Given the description of an element on the screen output the (x, y) to click on. 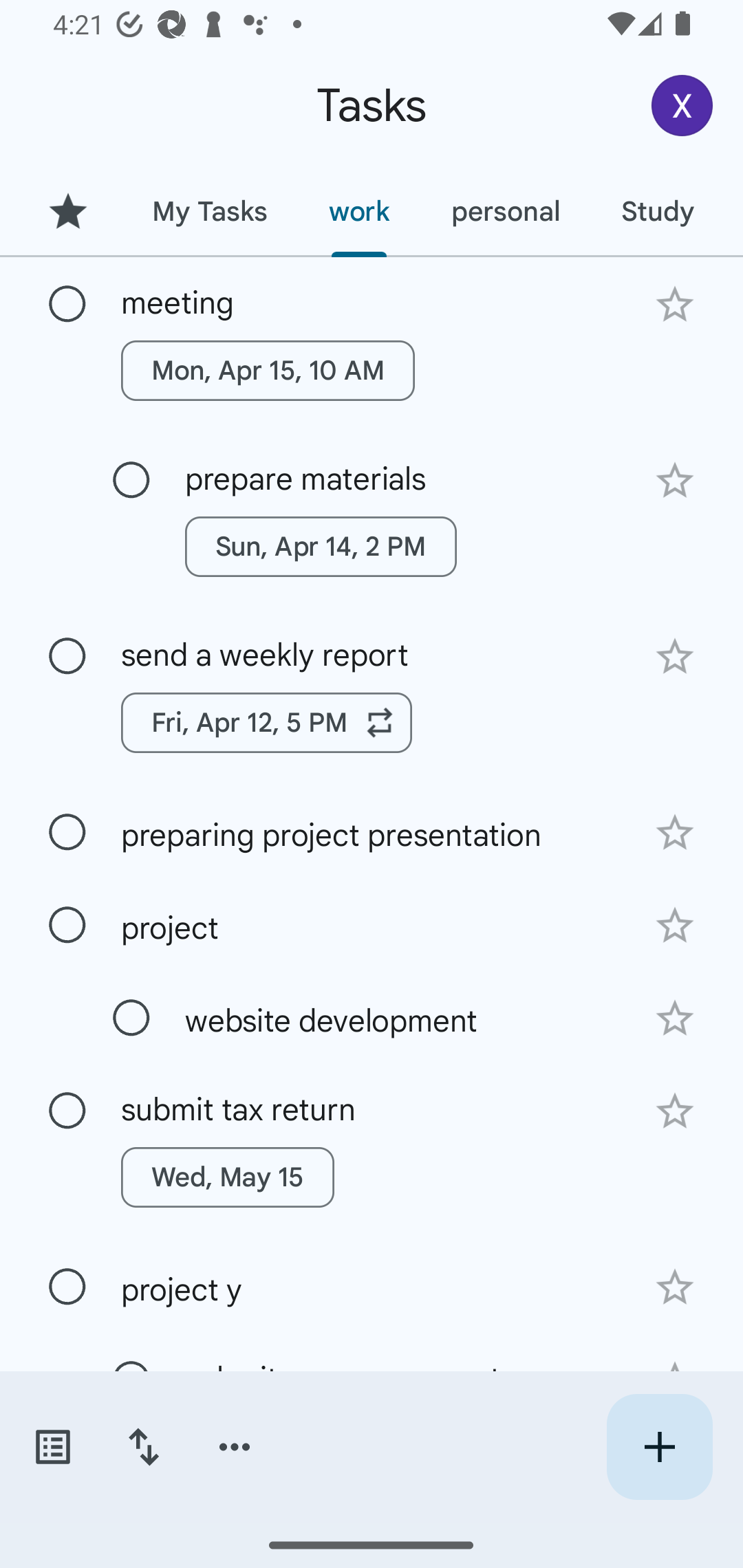
Starred (67, 211)
My Tasks (209, 211)
personal (504, 211)
Study (656, 211)
Add star (674, 303)
Mark as complete (67, 304)
Mon, Apr 15, 10 AM (267, 369)
Add star (674, 480)
Mark as complete (131, 480)
Sun, Apr 14, 2 PM (320, 546)
Add star (674, 656)
Mark as complete (67, 655)
Fri, Apr 12, 5 PM (266, 722)
Add star (674, 832)
Mark as complete (67, 833)
Add star (674, 924)
Mark as complete (67, 925)
Add star (674, 1018)
Mark as complete (131, 1018)
Add star (674, 1111)
Mark as complete (67, 1110)
Wed, May 15 (227, 1177)
Add star (674, 1286)
Mark as complete (67, 1287)
Switch task lists (52, 1447)
Create new task (659, 1446)
Change sort order (143, 1446)
More options (234, 1446)
